Given the description of an element on the screen output the (x, y) to click on. 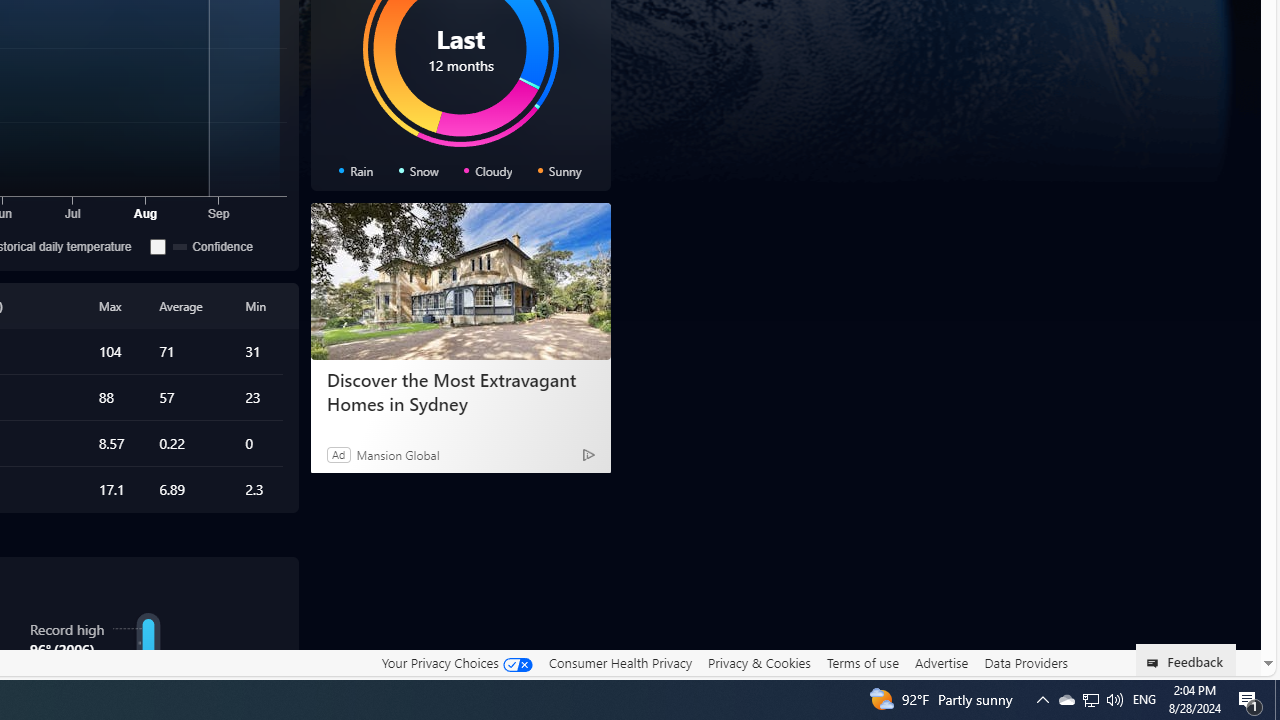
Discover the Most Extravagant Homes in Sydney (460, 391)
Consumer Health Privacy (619, 663)
Confidence (157, 246)
Terms of use (861, 663)
Privacy & Cookies (759, 662)
Consumer Health Privacy (619, 662)
Advertise (940, 662)
